Given the description of an element on the screen output the (x, y) to click on. 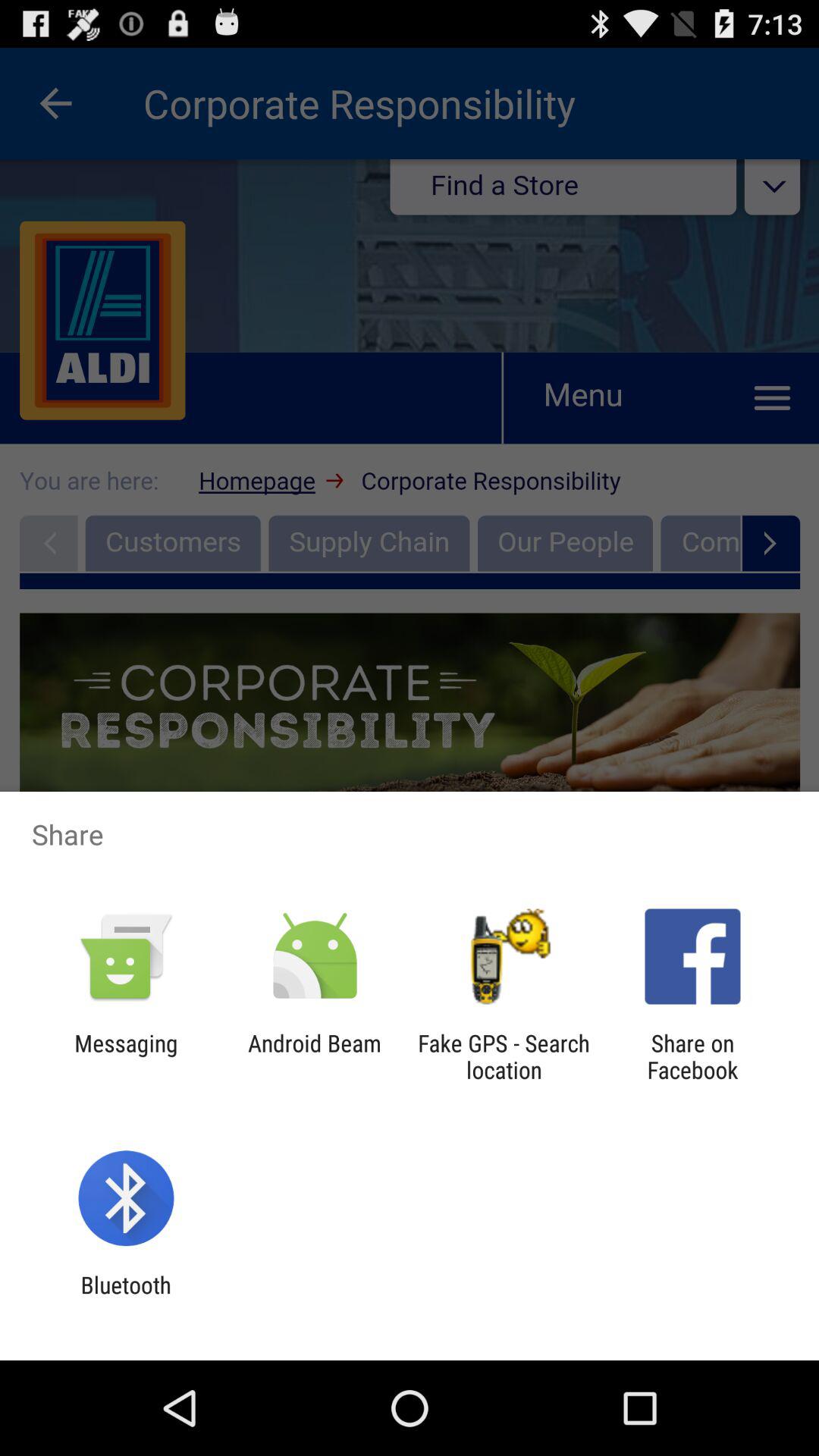
turn off android beam item (314, 1056)
